Given the description of an element on the screen output the (x, y) to click on. 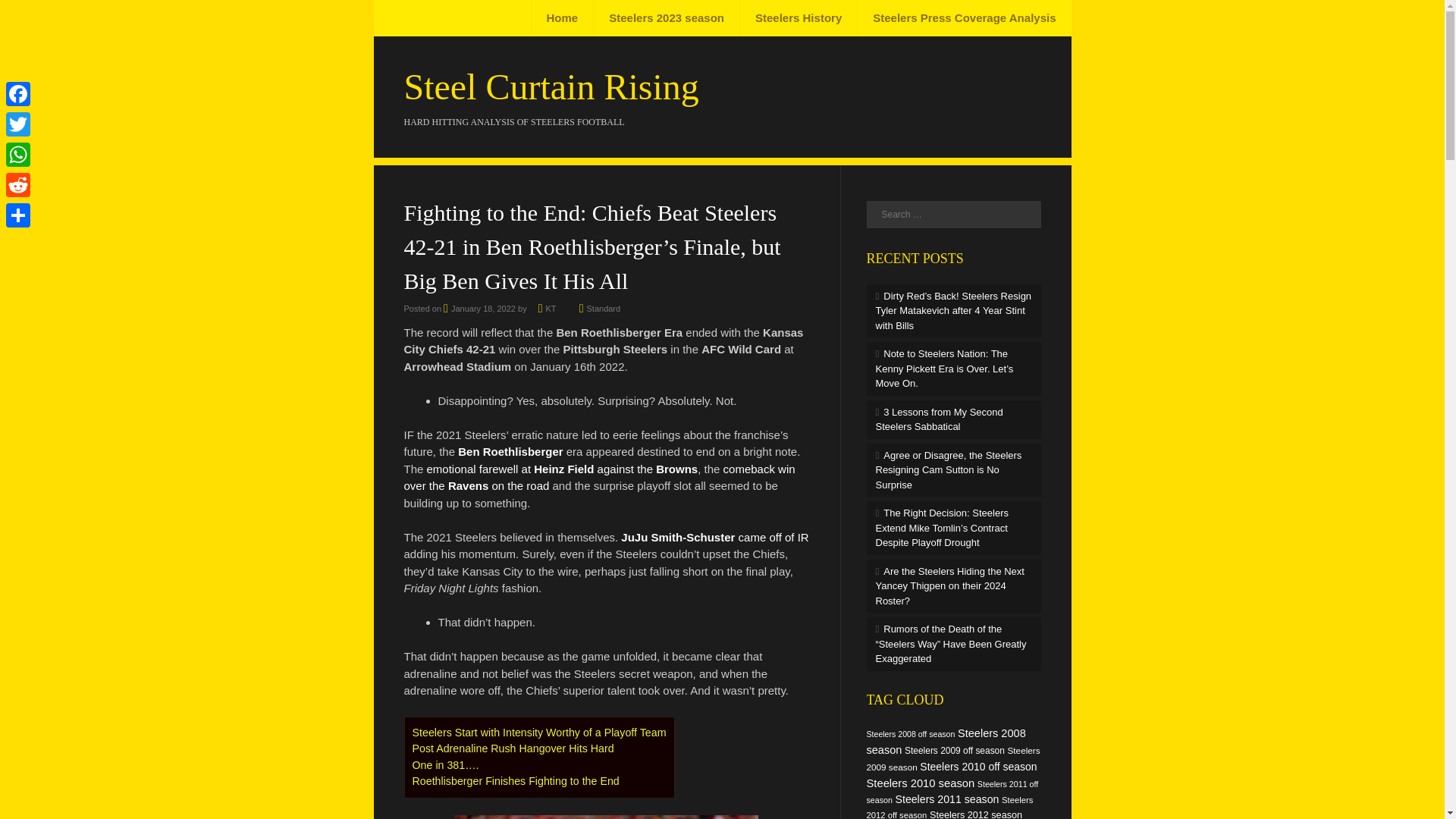
Steel Curtain Rising (550, 86)
11:13 AM (479, 307)
Home (562, 18)
Ben Roethlisberger (510, 451)
82 topics (945, 741)
Skip to content (429, 18)
Standard (603, 307)
55 topics (954, 750)
Post Adrenaline Rush Hangover Hits Hard (513, 748)
Steelers History (798, 18)
41 topics (910, 733)
JuJu Smith-Schuster (678, 536)
came off of IR (773, 536)
Steelers Start with Intensity Worthy of a Playoff Team (539, 732)
Permalink to  (603, 307)
